Given the description of an element on the screen output the (x, y) to click on. 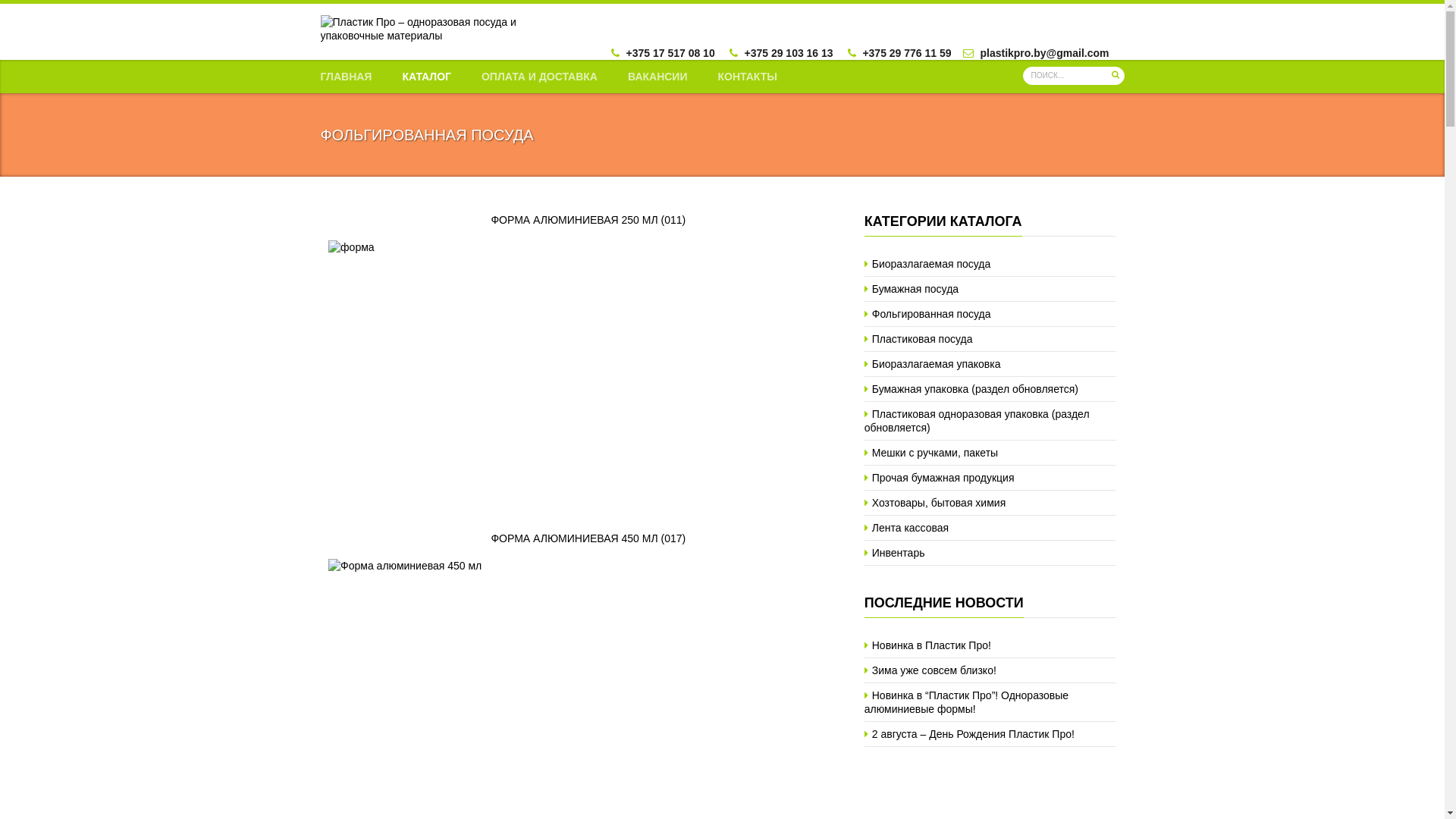
+375 29 103 16 13 Element type: text (787, 53)
+375 17 517 08 10 Element type: text (670, 53)
+375 29 776 11 59 Element type: text (906, 53)
plastikpro.by@gmail.com Element type: text (1043, 53)
